Given the description of an element on the screen output the (x, y) to click on. 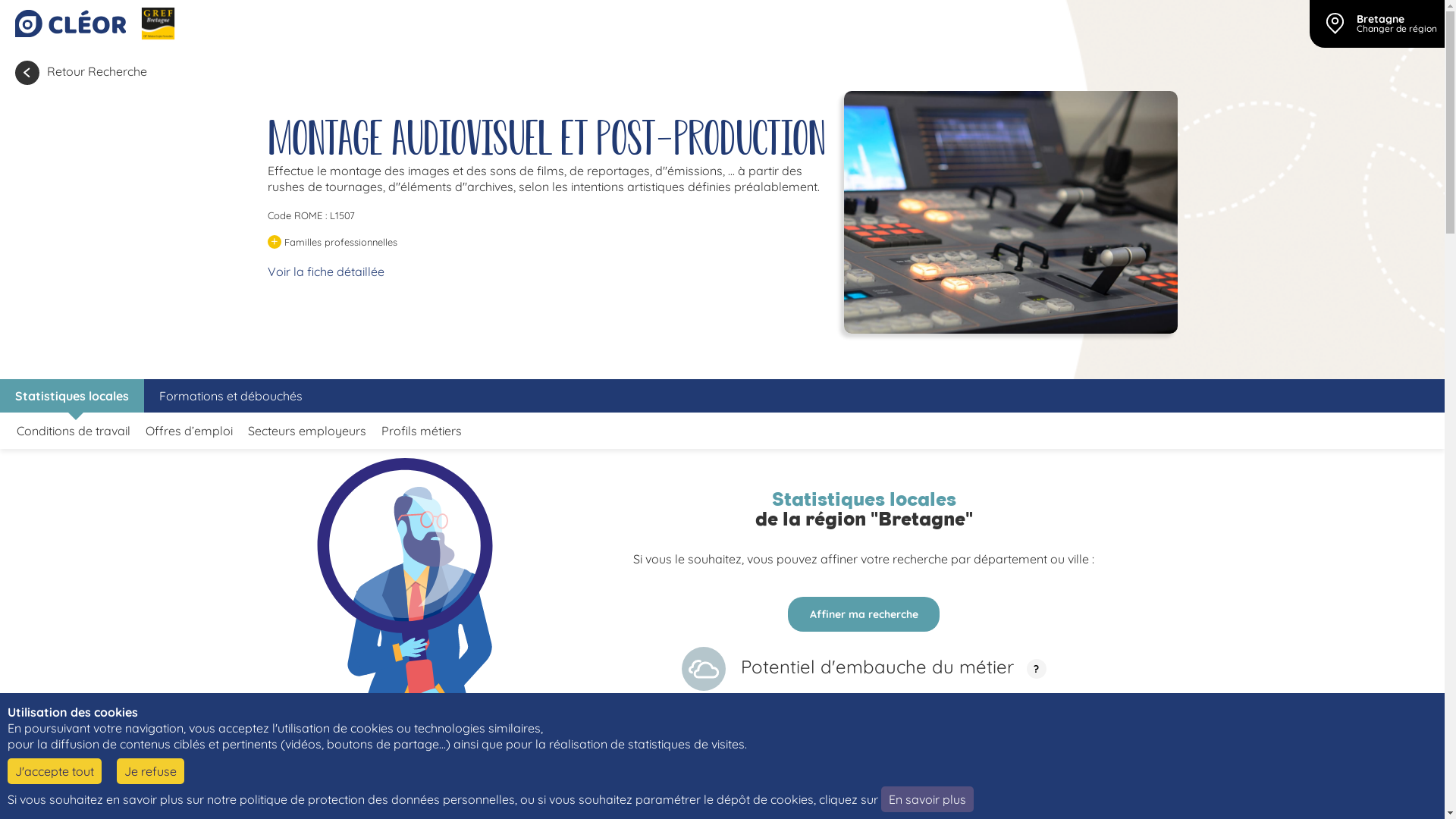
Retour Recherche Element type: text (81, 72)
Je refuse Element type: text (150, 771)
Secteurs employeurs Element type: text (306, 430)
J'accepte tout Element type: text (54, 771)
En savoir plus Element type: text (927, 799)
Affiner ma recherche Element type: text (863, 613)
Conditions de travail Element type: text (73, 430)
Bretagne Element type: text (1380, 18)
Statistiques locales Element type: text (72, 395)
